Given the description of an element on the screen output the (x, y) to click on. 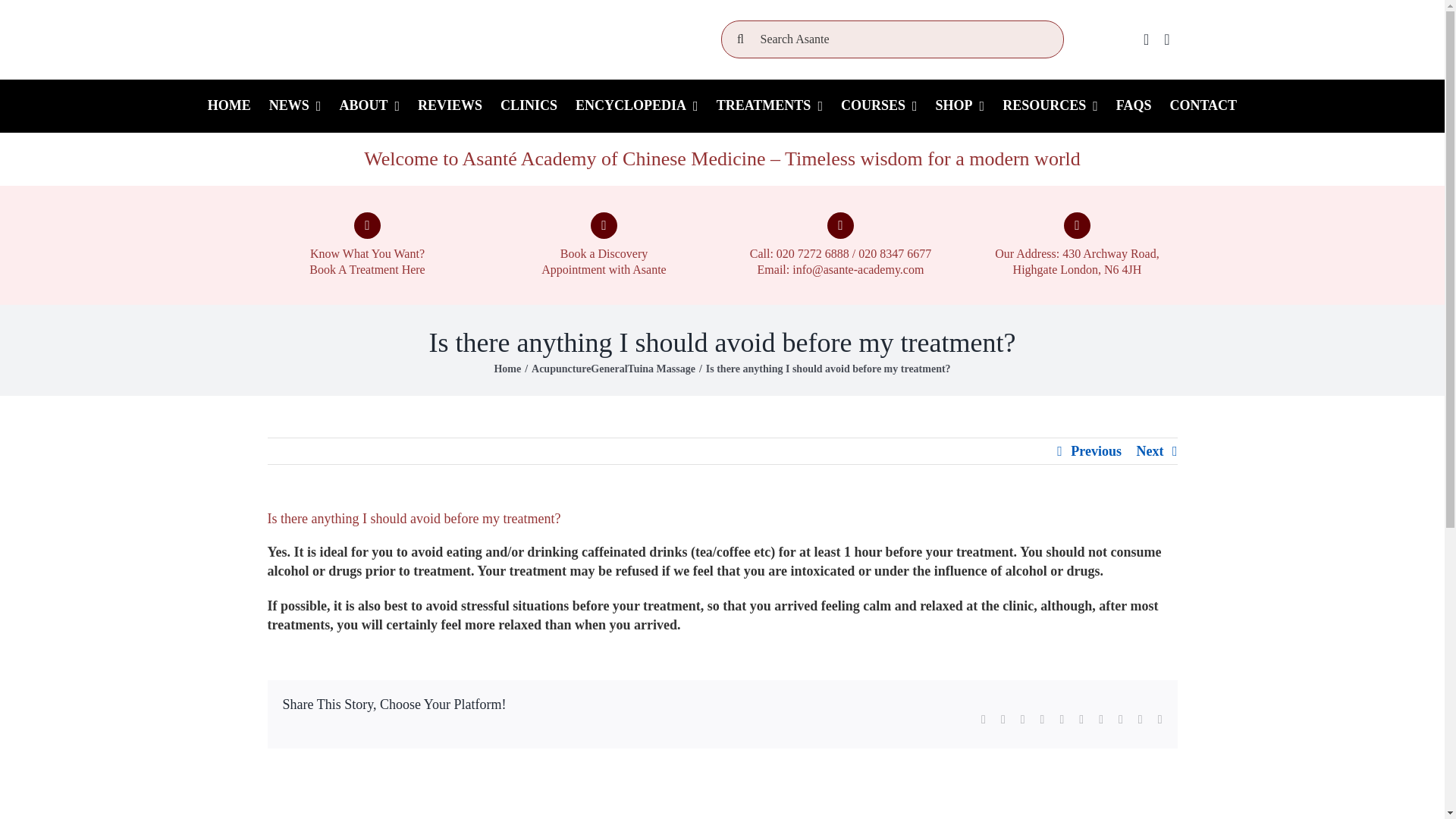
Asante Encyclopedia of Chinese Medicine (636, 105)
REVIEWS (450, 105)
CLINICS (529, 105)
COURSES (878, 105)
ABOUT (369, 105)
ENCYCLOPEDIA (636, 105)
Log In (1313, 218)
Is there anything I should avoid before my treatment? 1 (419, 39)
NEWS (295, 105)
HOME (229, 105)
